Given the description of an element on the screen output the (x, y) to click on. 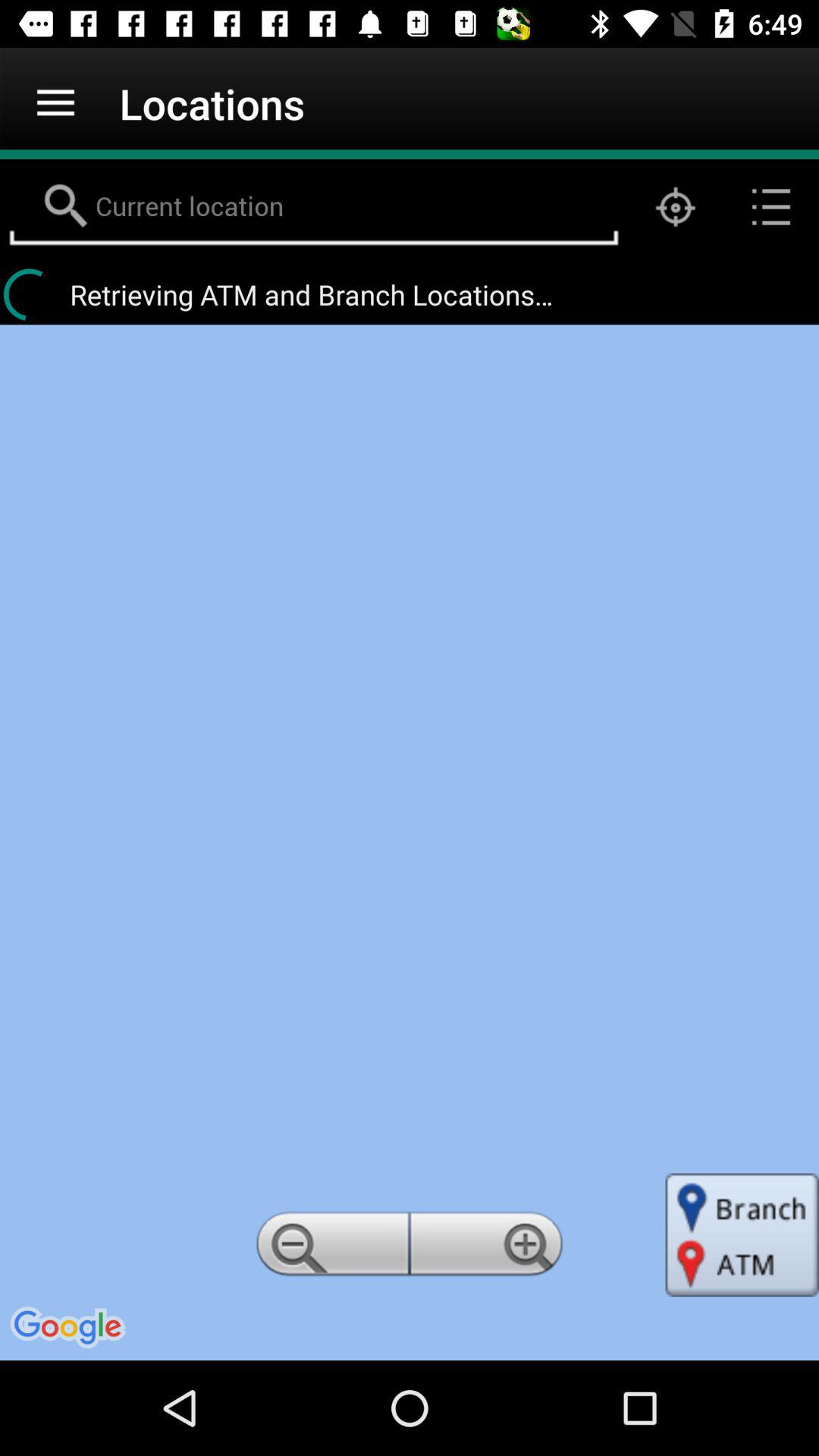
click icon below retrieving atm and item (488, 1248)
